Given the description of an element on the screen output the (x, y) to click on. 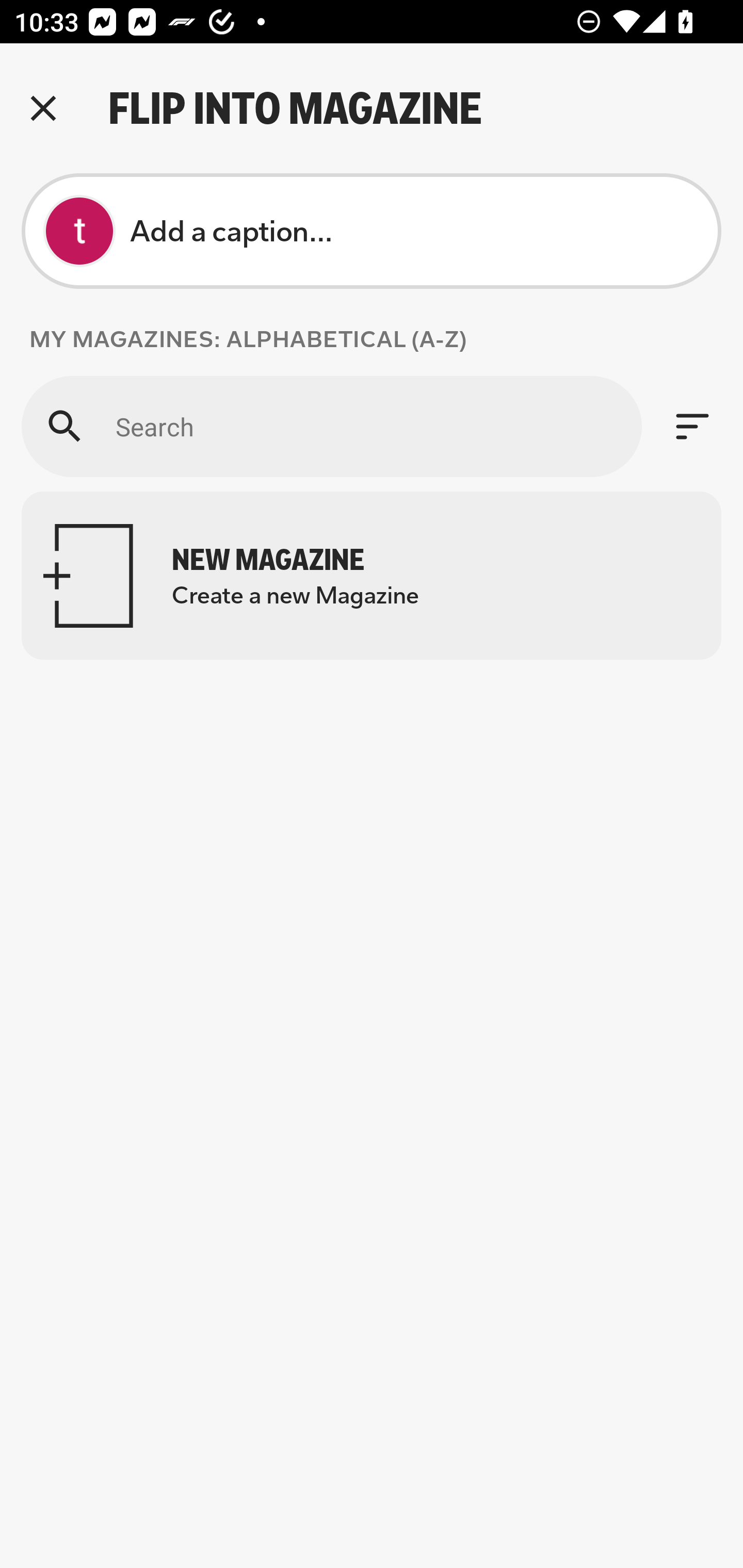
test appium Add a caption… (371, 231)
Search (331, 426)
NEW MAGAZINE Create a new Magazine (371, 575)
